Given the description of an element on the screen output the (x, y) to click on. 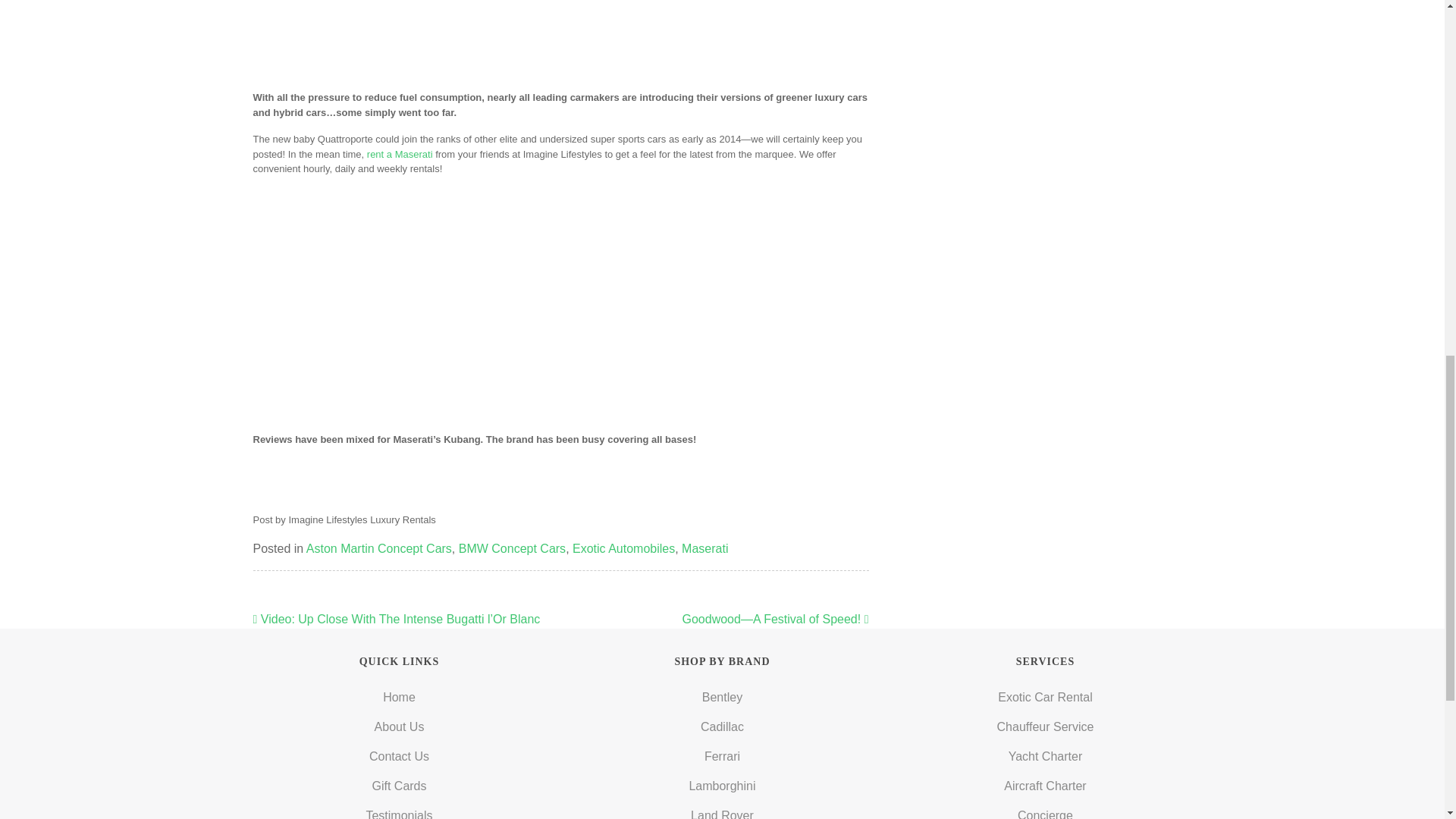
Exotic Automobiles (623, 547)
rent a Maserati (399, 153)
Aston Martin Concept Cars (378, 547)
Maserati (704, 547)
BMW Concept Cars (512, 547)
